Given the description of an element on the screen output the (x, y) to click on. 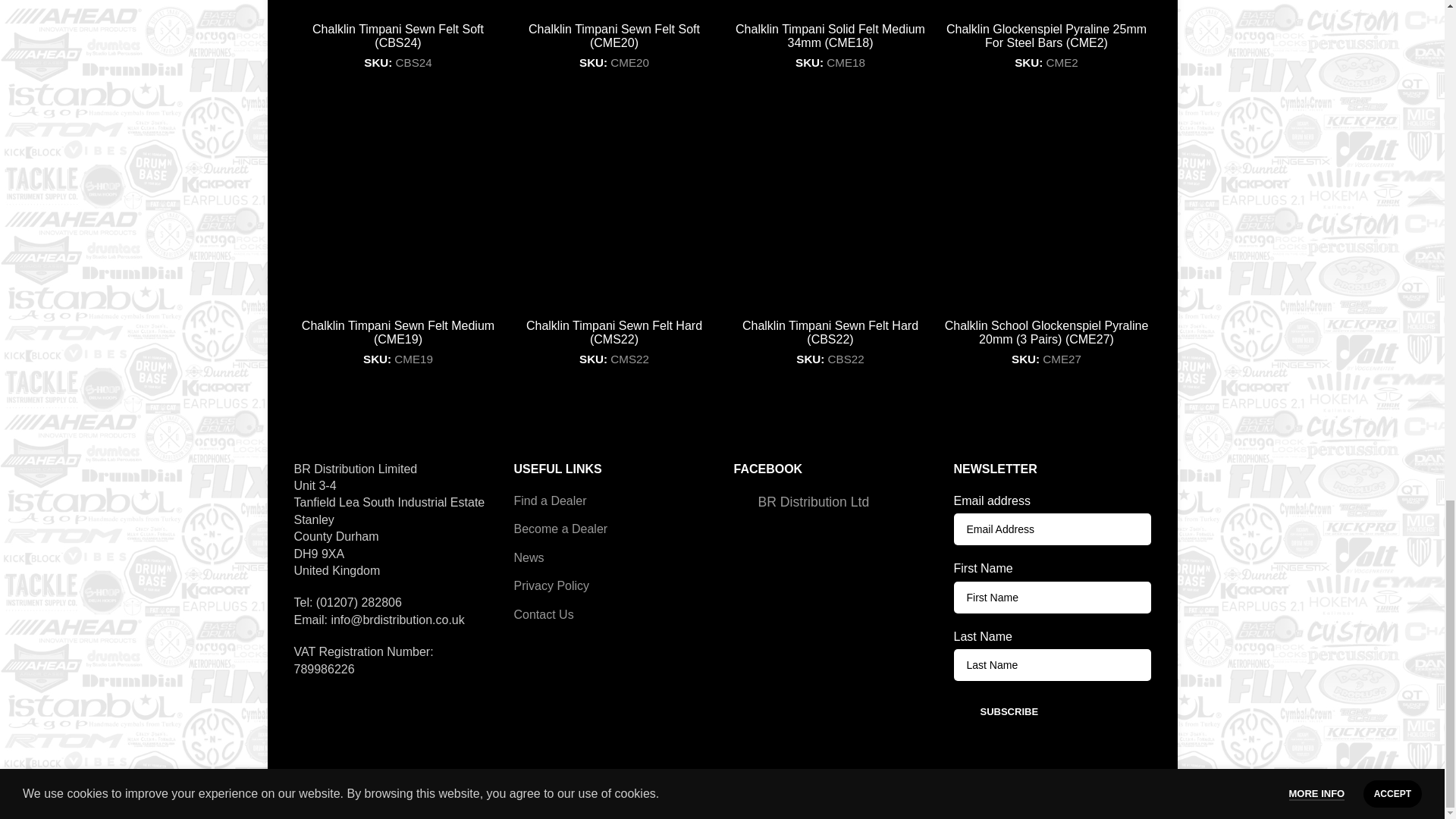
Subscribe (1009, 712)
